Given the description of an element on the screen output the (x, y) to click on. 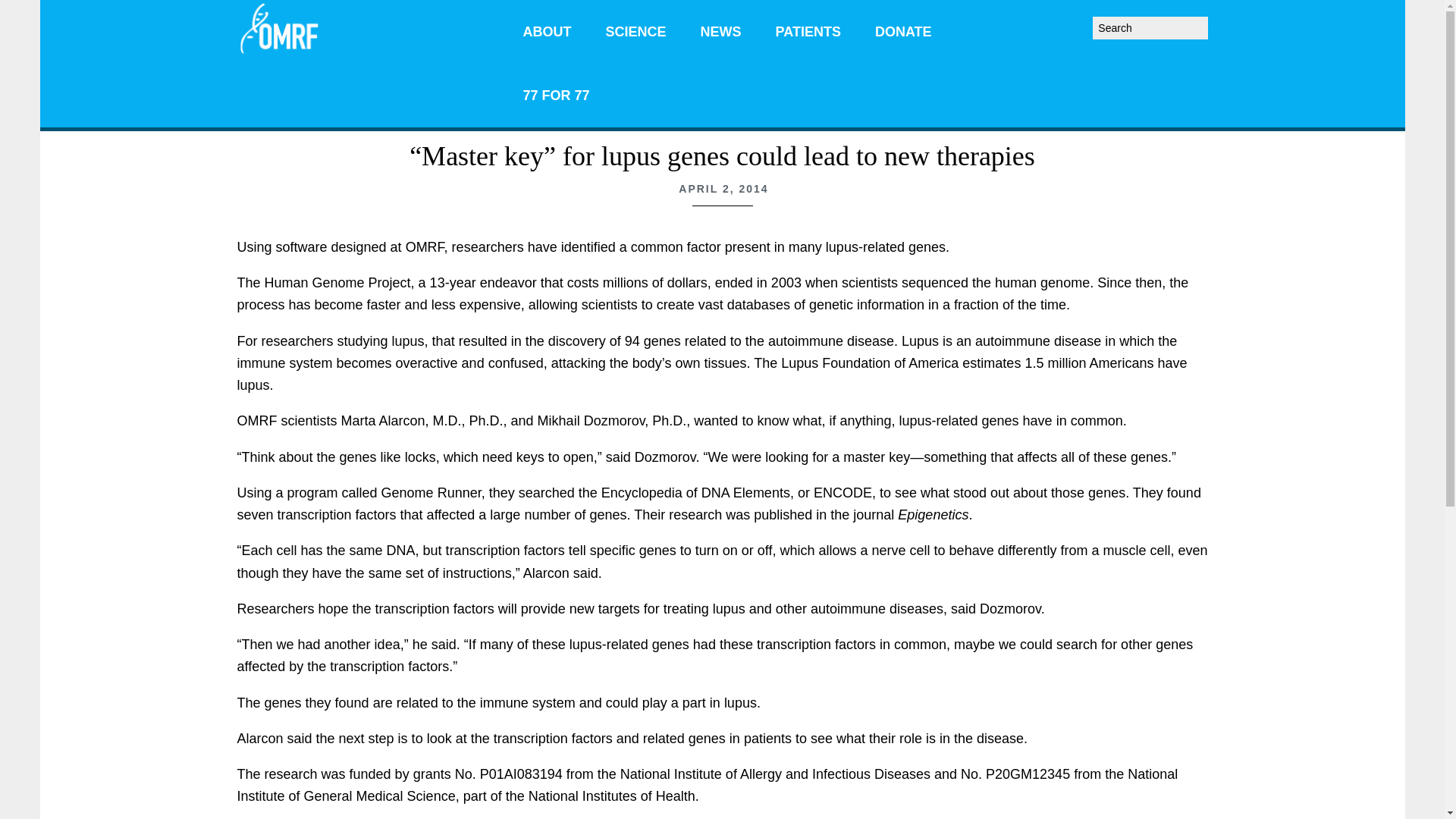
SCIENCE (636, 31)
Search (1212, 21)
ABOUT (547, 31)
DONATE (903, 31)
Search (1212, 21)
PATIENTS (808, 31)
NEWS (721, 31)
